Given the description of an element on the screen output the (x, y) to click on. 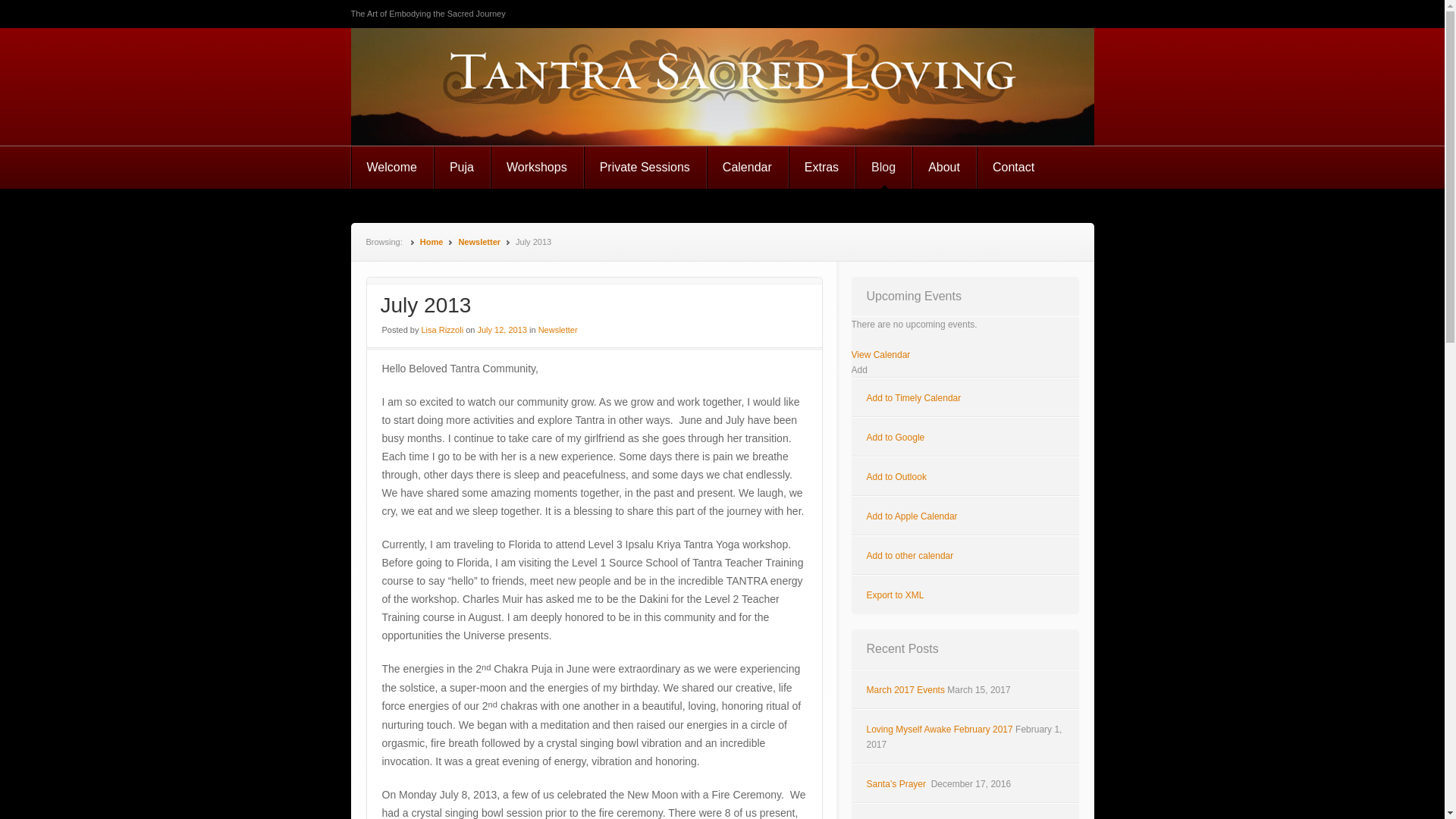
3:20 pm (502, 329)
A Special Offer  (897, 818)
View all posts by Lisa Rizzoli (443, 329)
Calendar (747, 167)
Lisa Rizzoli (443, 329)
Welcome (391, 167)
Add to Timely Calendar (913, 398)
March 2017 Events (904, 689)
Newsletter (558, 329)
